Given the description of an element on the screen output the (x, y) to click on. 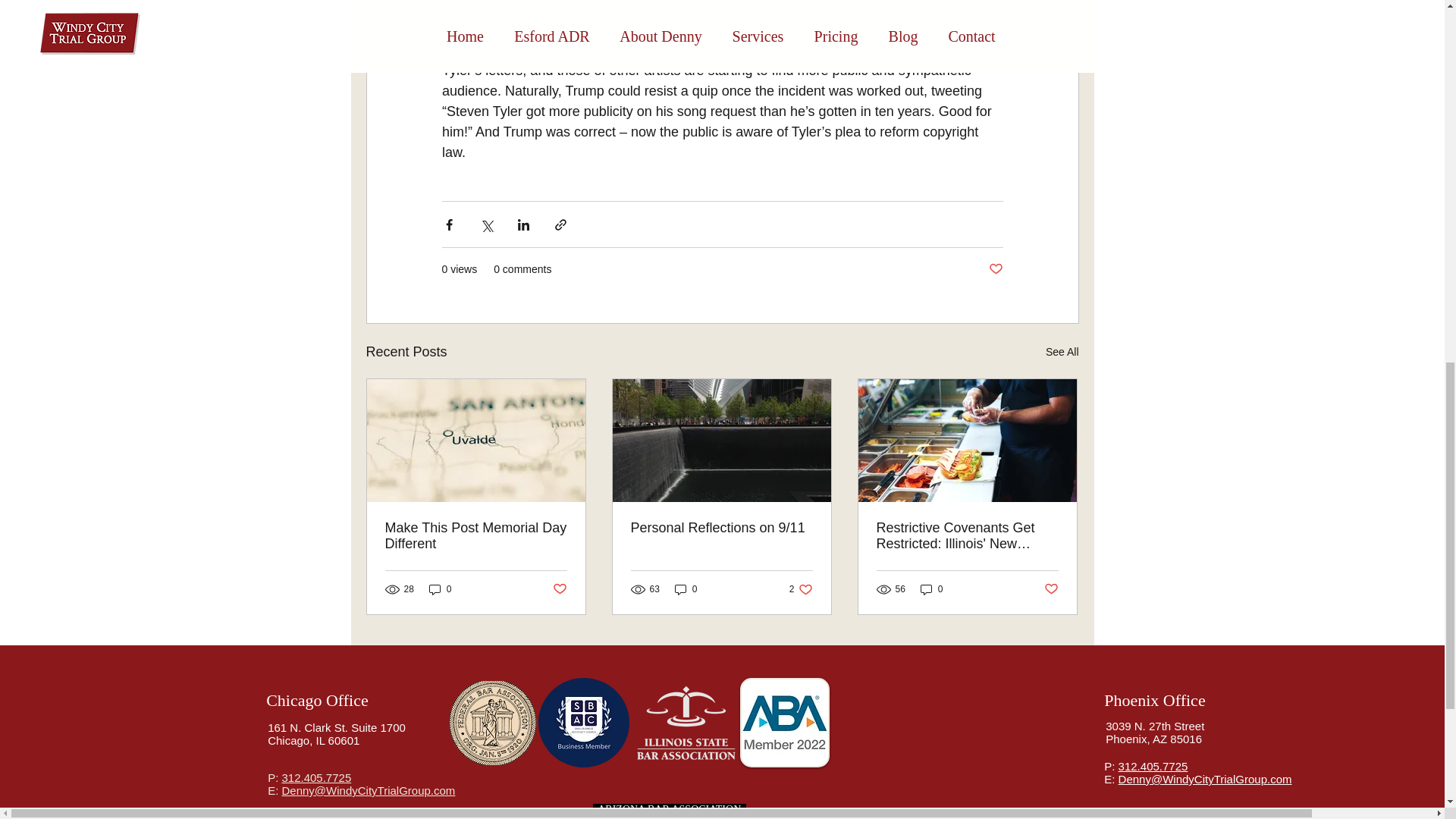
Post not marked as liked (995, 269)
Make This Post Memorial Day Different (476, 536)
Chicago Office (317, 700)
See All (1061, 352)
Post not marked as liked (558, 588)
  ARIZONA BAR ASSOCIATION   (668, 808)
Post not marked as liked (1050, 588)
0 (685, 589)
0 (800, 589)
0 (440, 589)
312.405.7725 (931, 589)
